Given the description of an element on the screen output the (x, y) to click on. 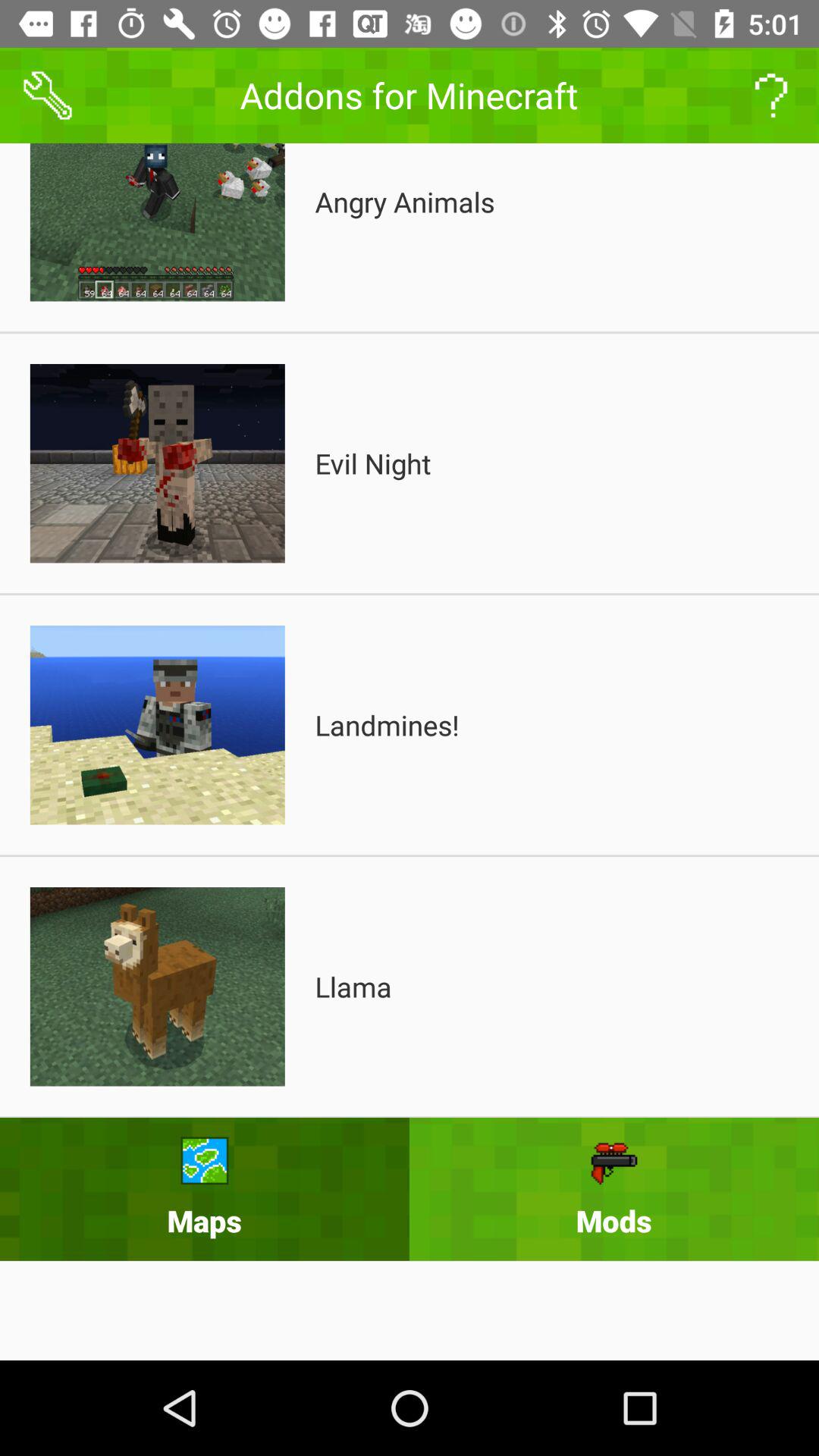
turn on evil night (373, 463)
